Given the description of an element on the screen output the (x, y) to click on. 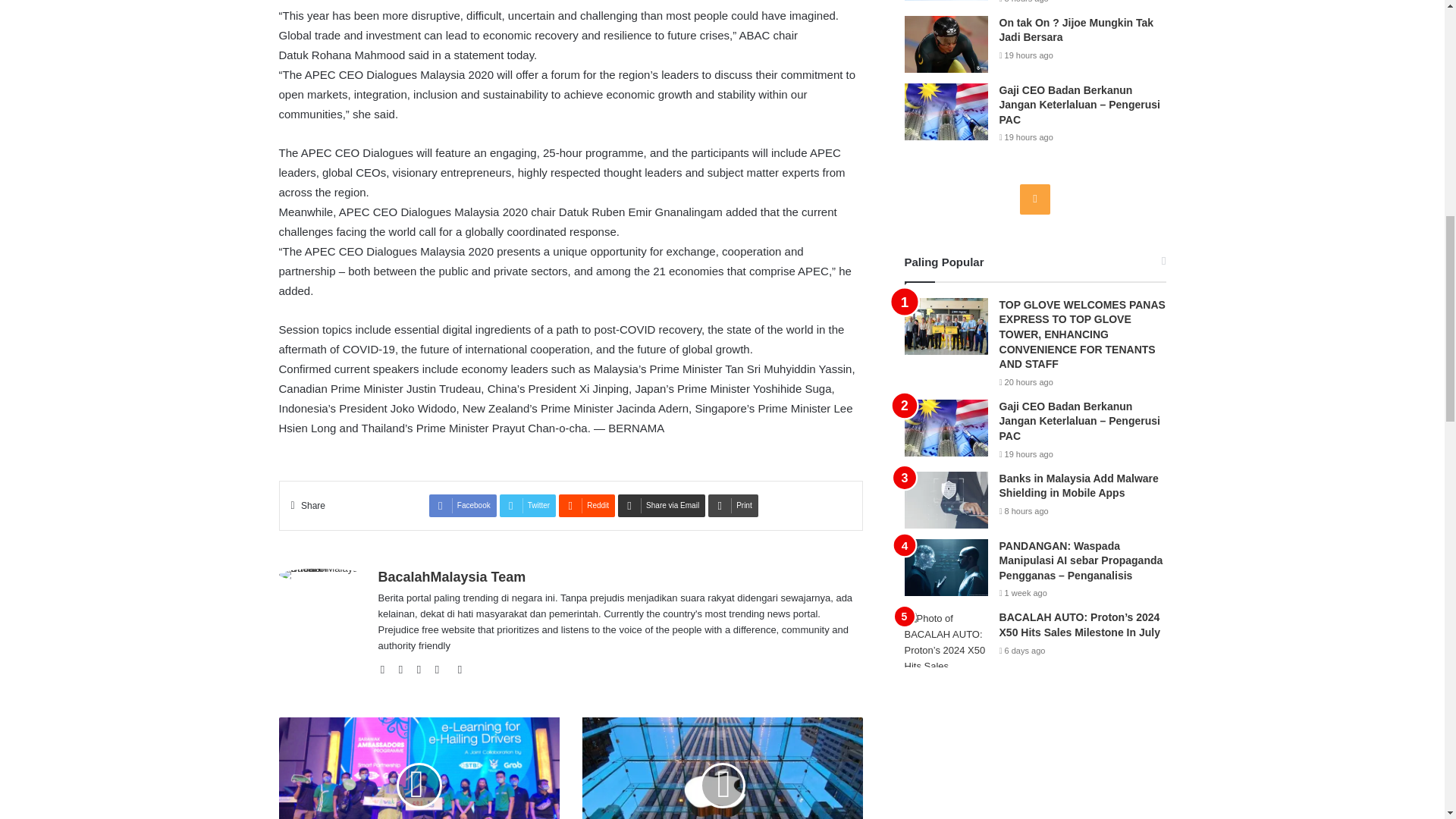
Twitter (527, 505)
Reddit (586, 505)
Share via Email (660, 505)
Website (386, 669)
Facebook (404, 669)
Print (732, 505)
BacalahMalaysia Team (451, 576)
Twitter (422, 669)
Facebook (462, 505)
